Given the description of an element on the screen output the (x, y) to click on. 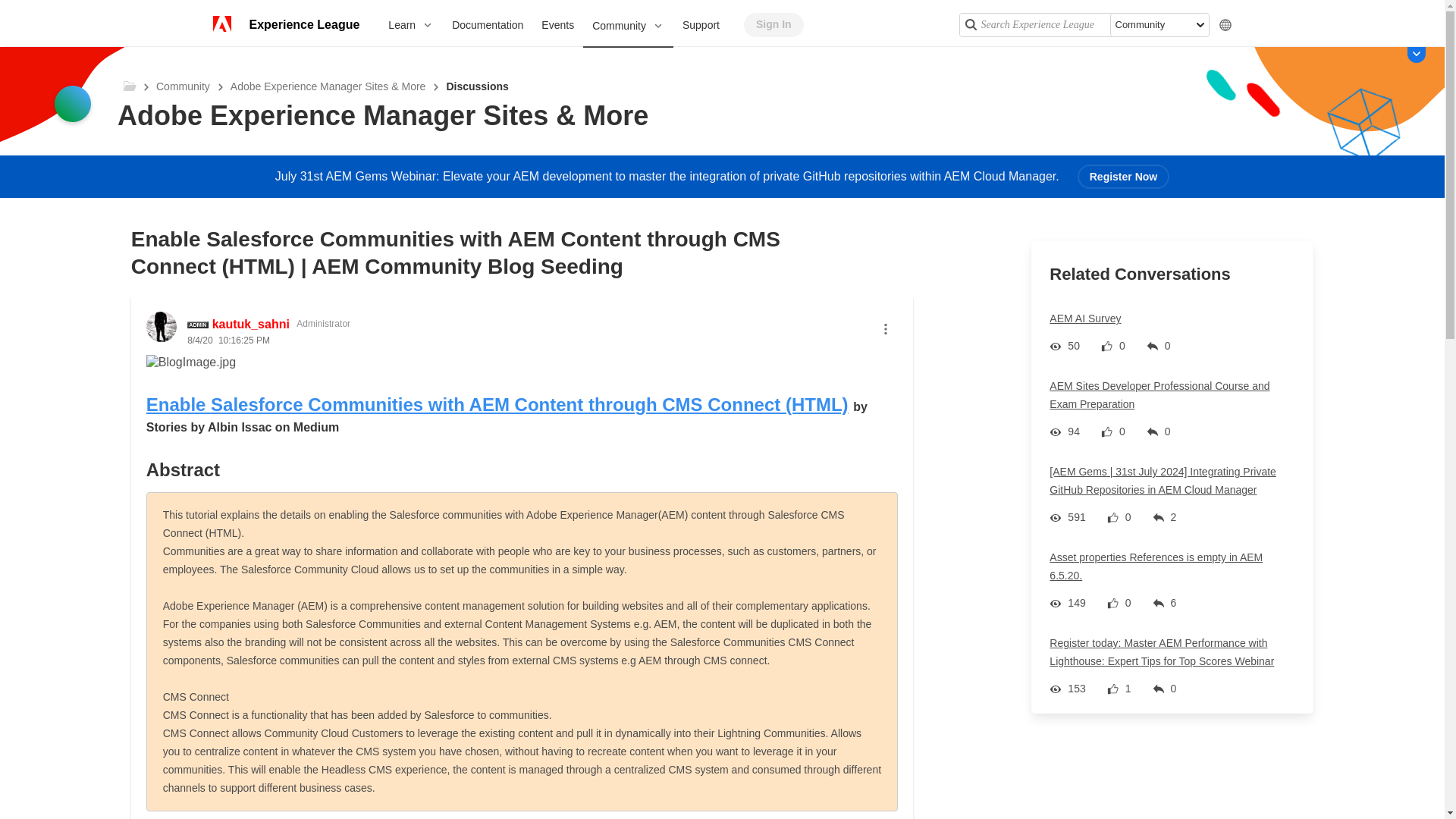
Learn (410, 24)
Community (627, 25)
Experience League (304, 24)
Learn (410, 24)
Experience League (304, 24)
Search (969, 24)
Events (557, 24)
Documentation (487, 24)
